Given the description of an element on the screen output the (x, y) to click on. 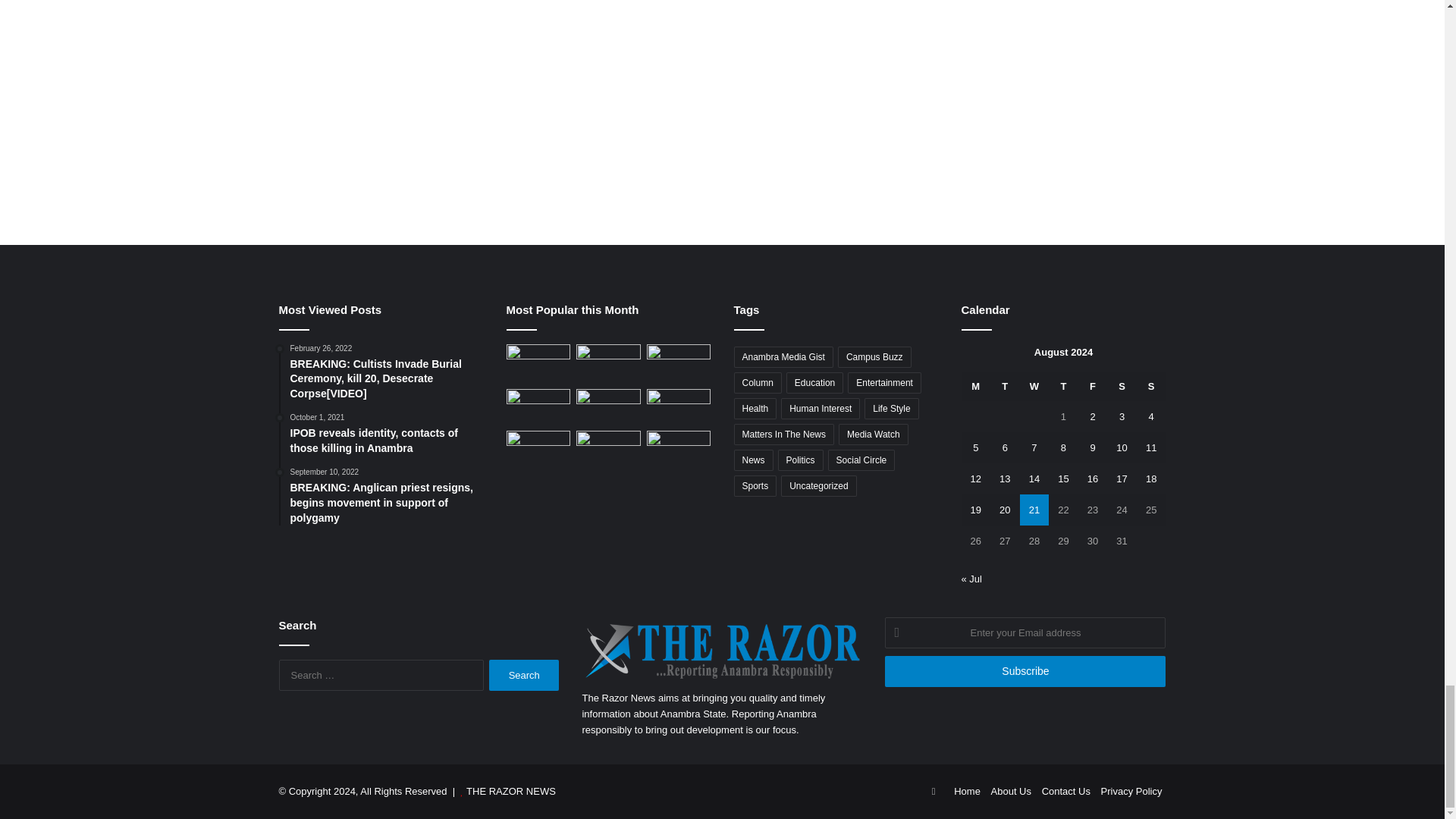
Subscribe (1025, 671)
Search (524, 675)
Search (524, 675)
